Given the description of an element on the screen output the (x, y) to click on. 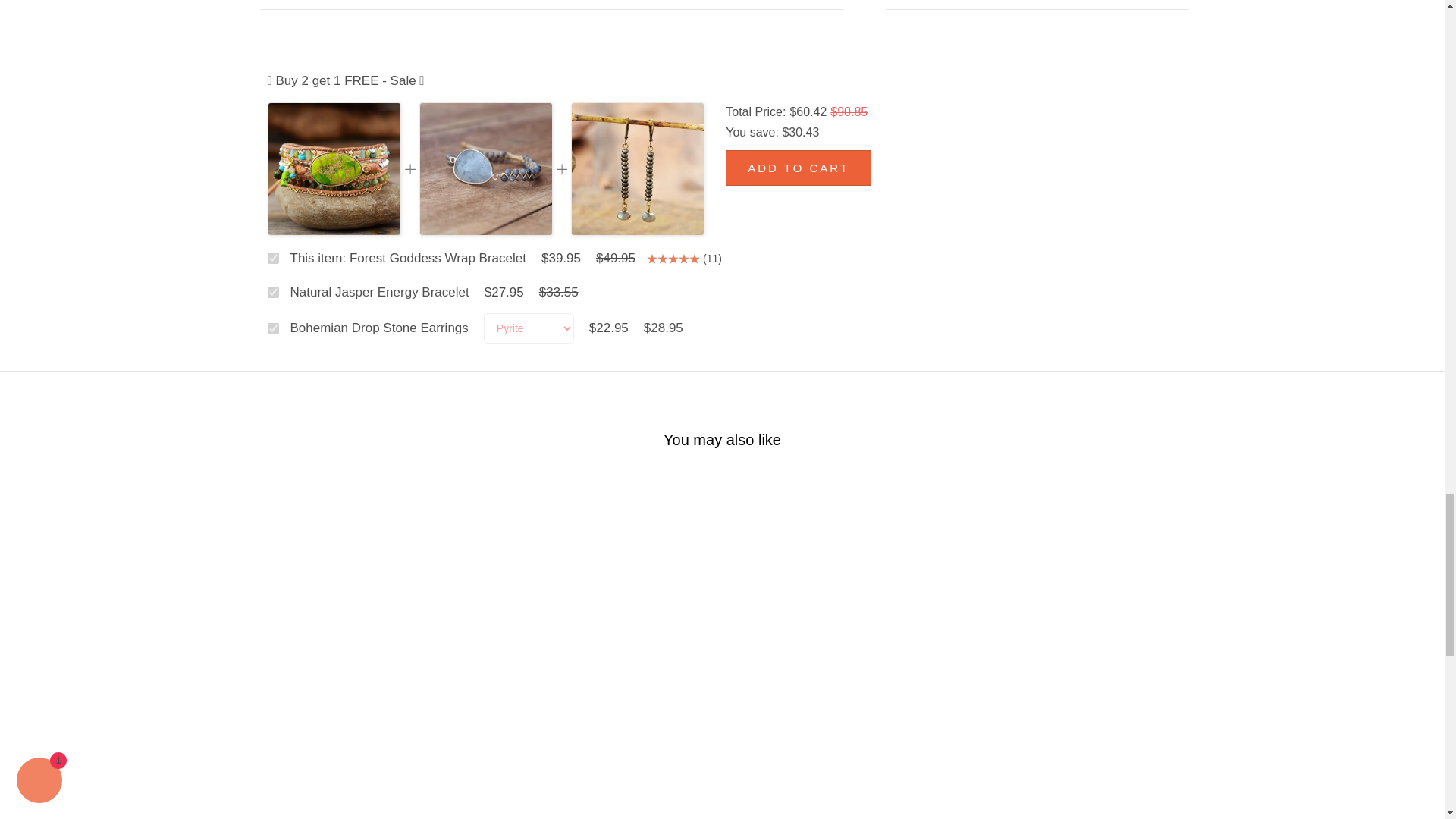
on (272, 258)
on (272, 328)
Forest Goddess Wrap Bracelet (333, 169)
on (272, 292)
Bohemian Drop Stone Earrings (636, 169)
Natural Jasper Energy Bracelet (485, 169)
